Given the description of an element on the screen output the (x, y) to click on. 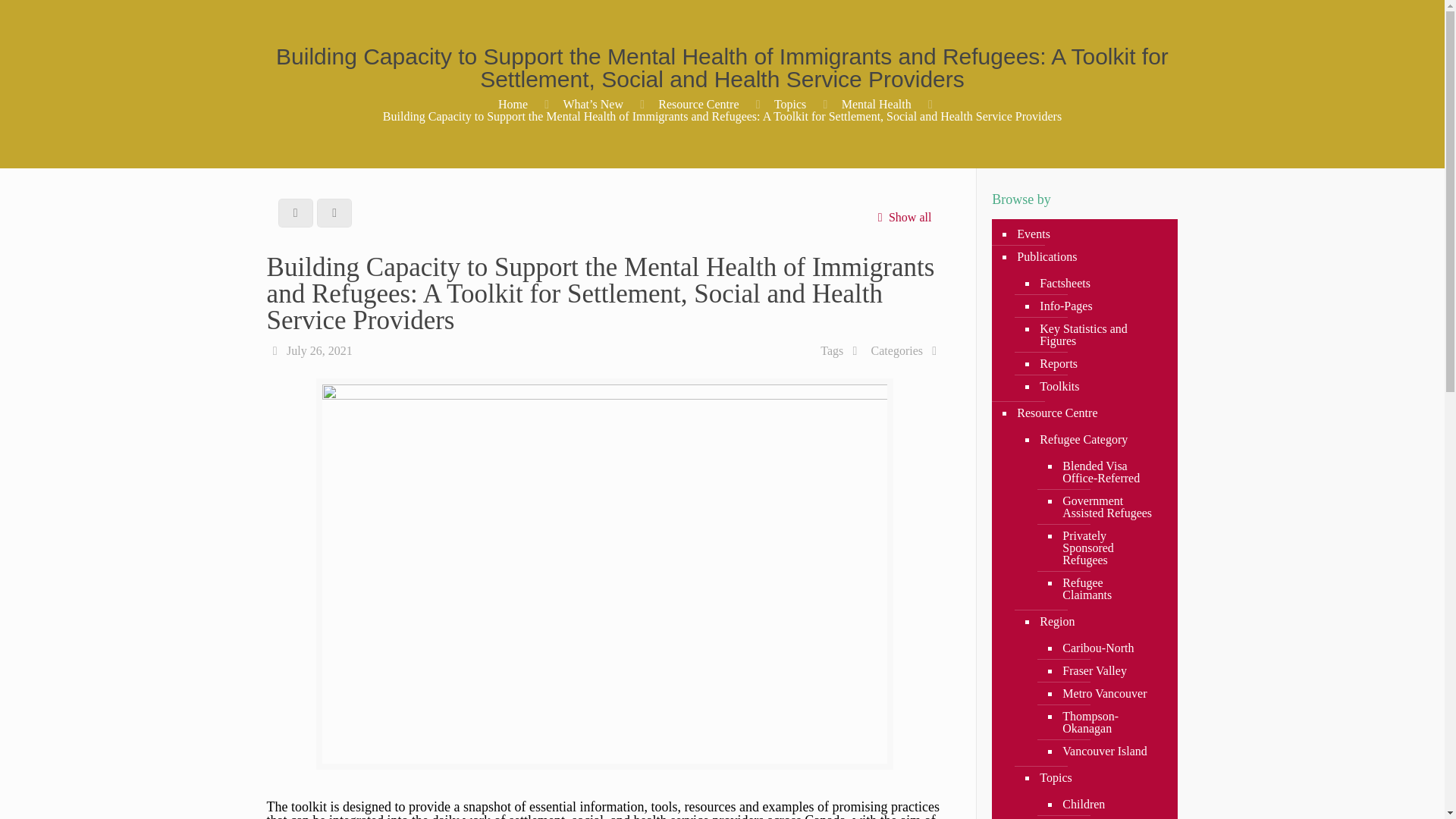
Resource Centre (698, 103)
Topics (790, 103)
Show all (901, 217)
Mental Health (876, 103)
Home (512, 103)
